Given the description of an element on the screen output the (x, y) to click on. 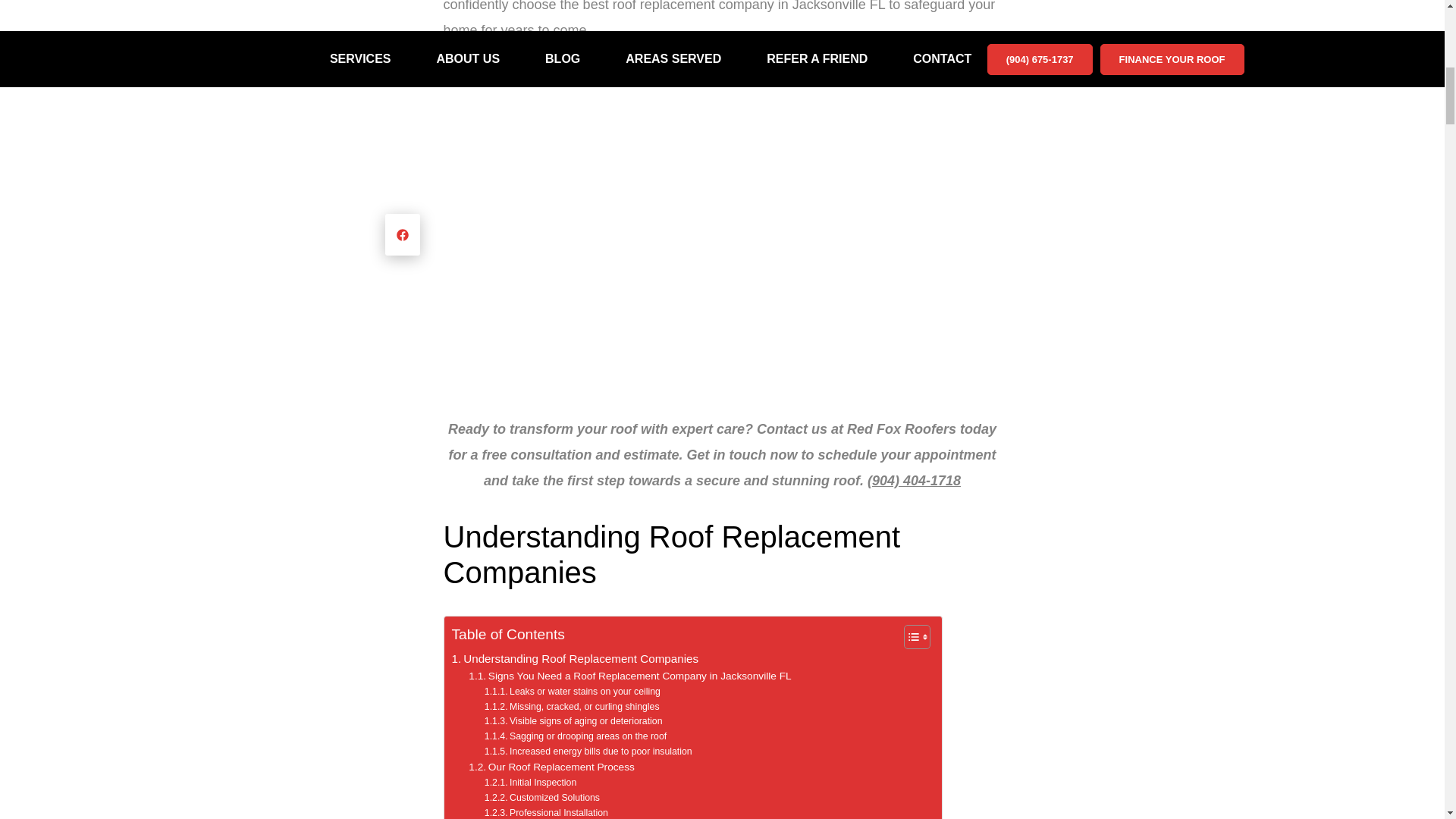
Signs You Need a Roof Replacement Company in Jacksonville FL (629, 676)
Professional Installation (546, 812)
Leaks or water stains on your ceiling (572, 692)
Sagging or drooping areas on the roof (575, 736)
Our Roof Replacement Process (551, 767)
Visible signs of aging or deterioration (573, 721)
Increased energy bills due to poor insulation (588, 752)
Missing, cracked, or curling shingles (571, 707)
Understanding Roof Replacement Companies (574, 659)
Initial Inspection (530, 783)
Customized Solutions (541, 798)
